Given the description of an element on the screen output the (x, y) to click on. 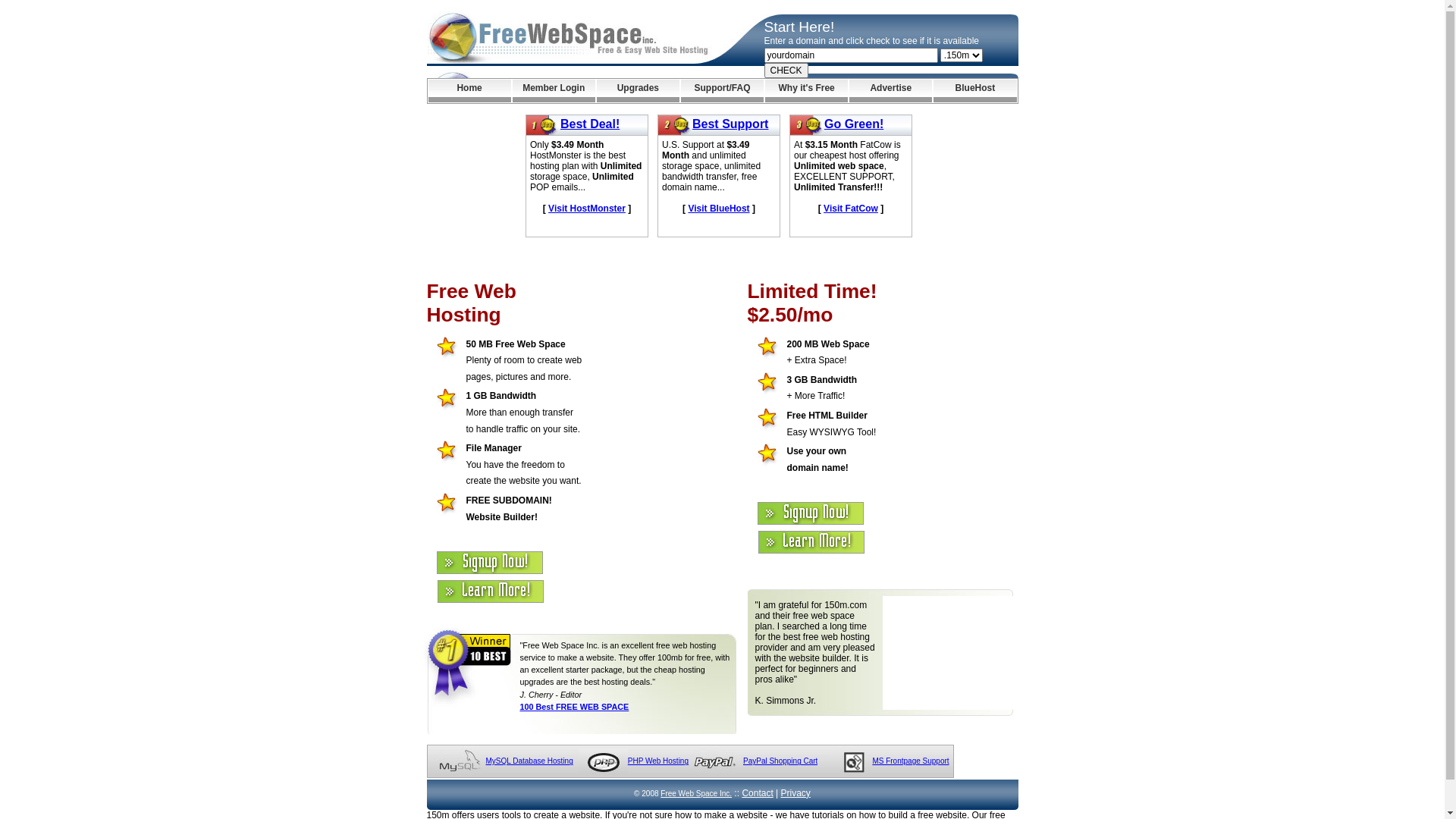
Why it's Free Element type: text (806, 90)
MS Frontpage Support Element type: text (910, 760)
BlueHost Element type: text (974, 90)
Support/FAQ Element type: text (721, 90)
Upgrades Element type: text (637, 90)
Privacy Element type: text (795, 792)
CHECK Element type: text (786, 70)
100 Best FREE WEB SPACE Element type: text (574, 706)
Contact Element type: text (756, 792)
MySQL Database Hosting Element type: text (528, 760)
PayPal Shopping Cart Element type: text (780, 760)
Advertise Element type: text (890, 90)
Member Login Element type: text (553, 90)
PHP Web Hosting Element type: text (657, 760)
Free Web Space Inc. Element type: text (695, 793)
Home Element type: text (468, 90)
